Given the description of an element on the screen output the (x, y) to click on. 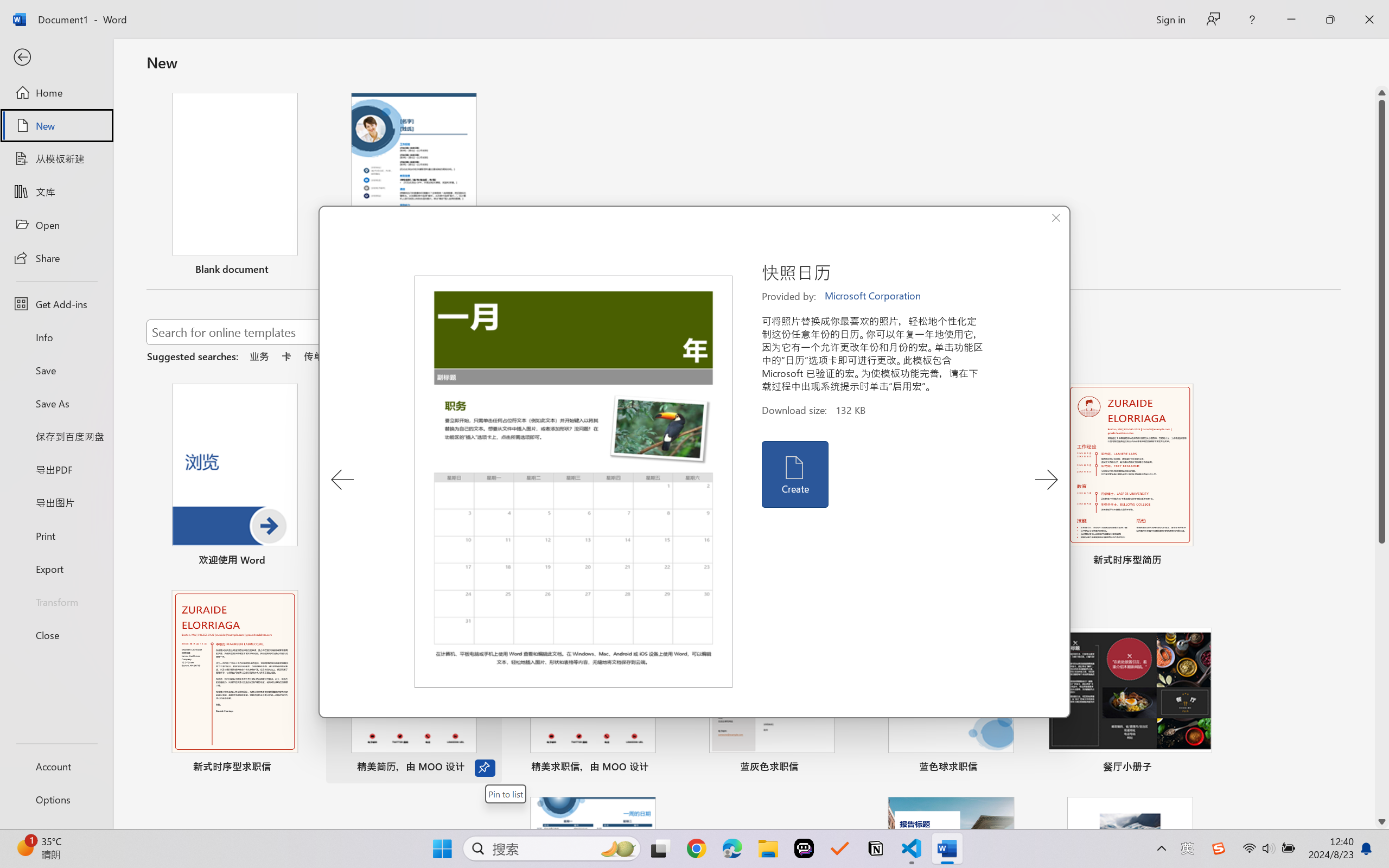
Create (794, 473)
Search for online templates (389, 333)
Page down (1382, 679)
Line down (1382, 821)
New (56, 125)
